Given the description of an element on the screen output the (x, y) to click on. 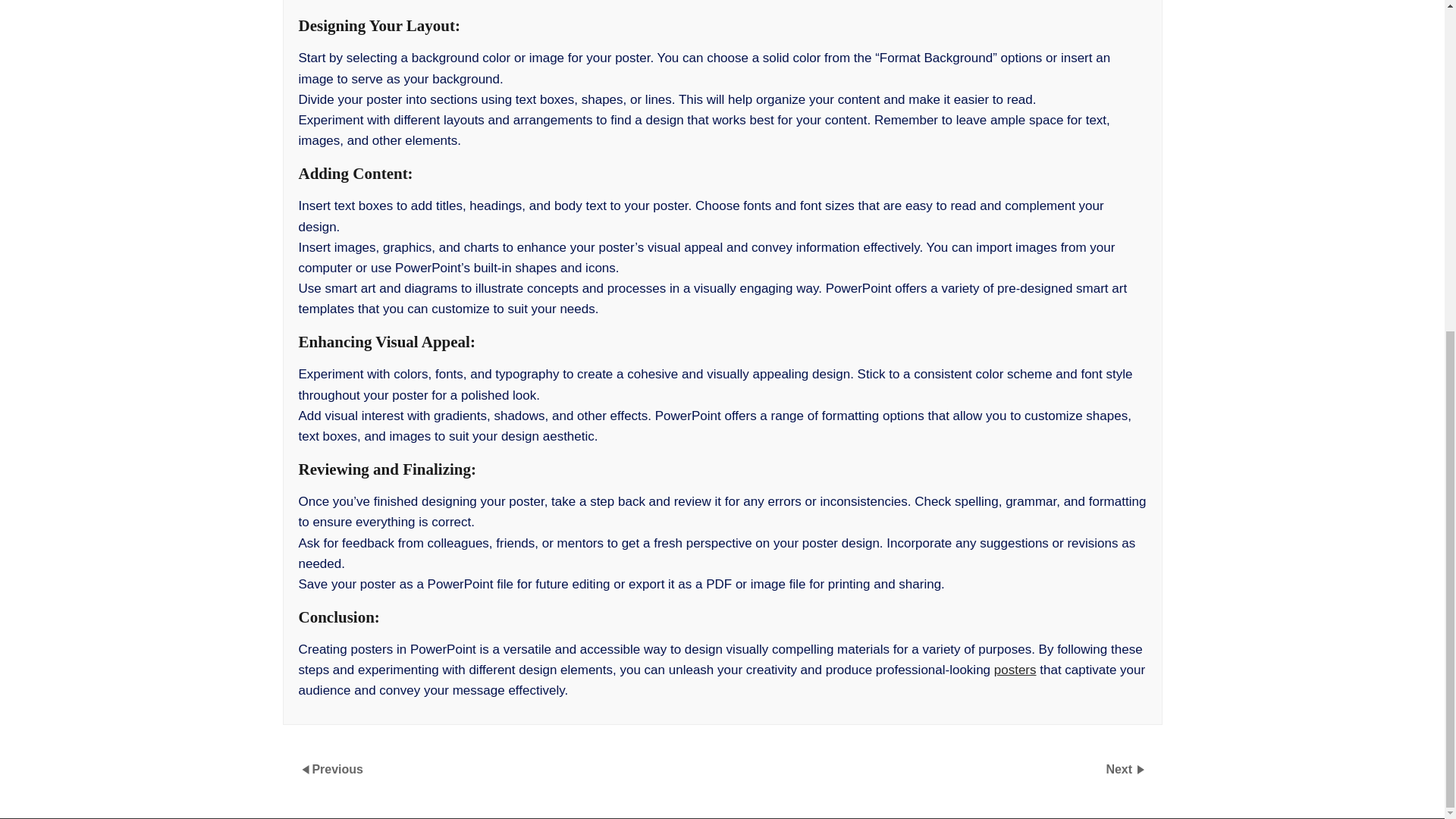
posters (1015, 669)
Previous (336, 768)
Next (1120, 768)
